Given the description of an element on the screen output the (x, y) to click on. 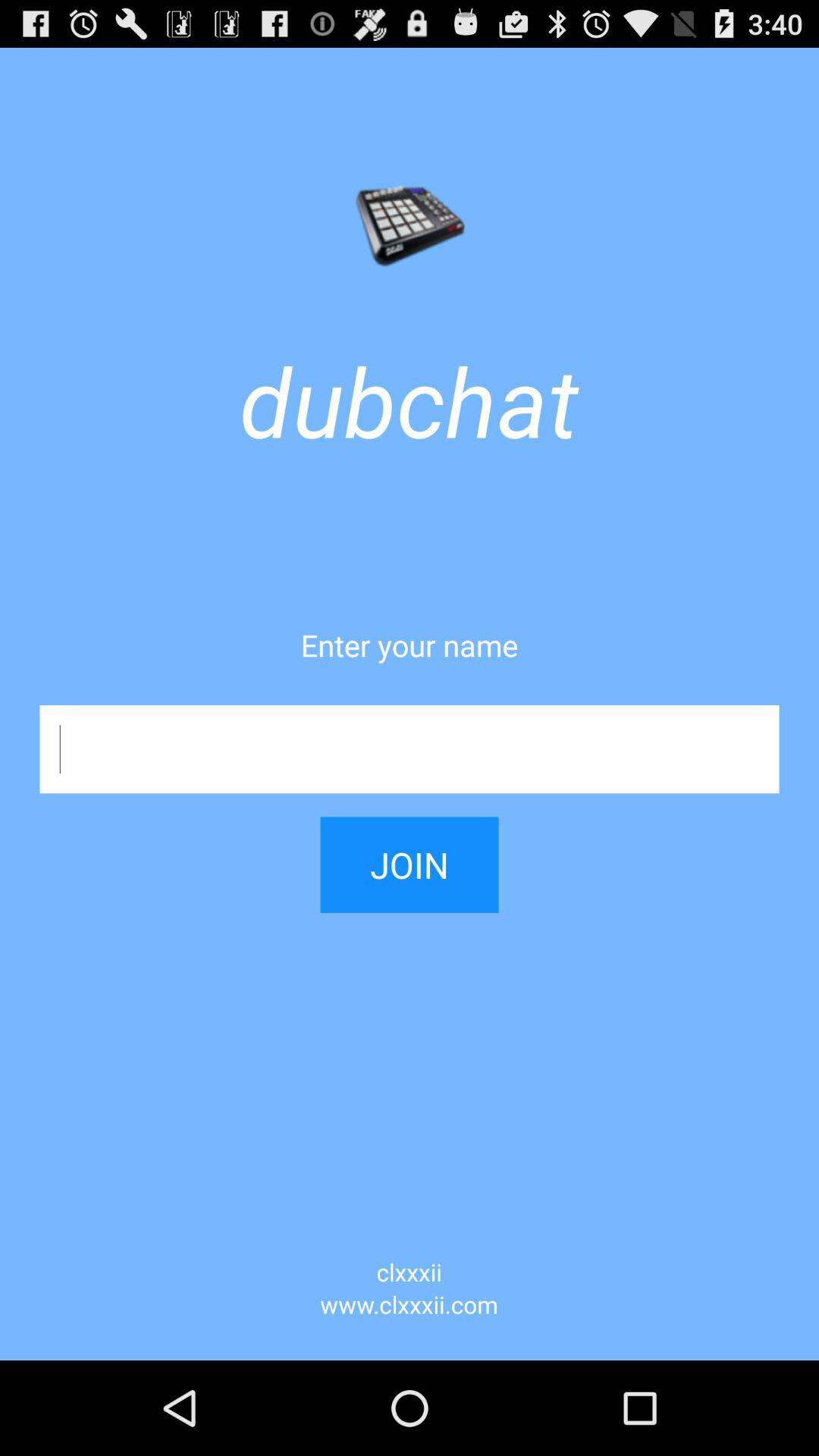
press join item (409, 851)
